Given the description of an element on the screen output the (x, y) to click on. 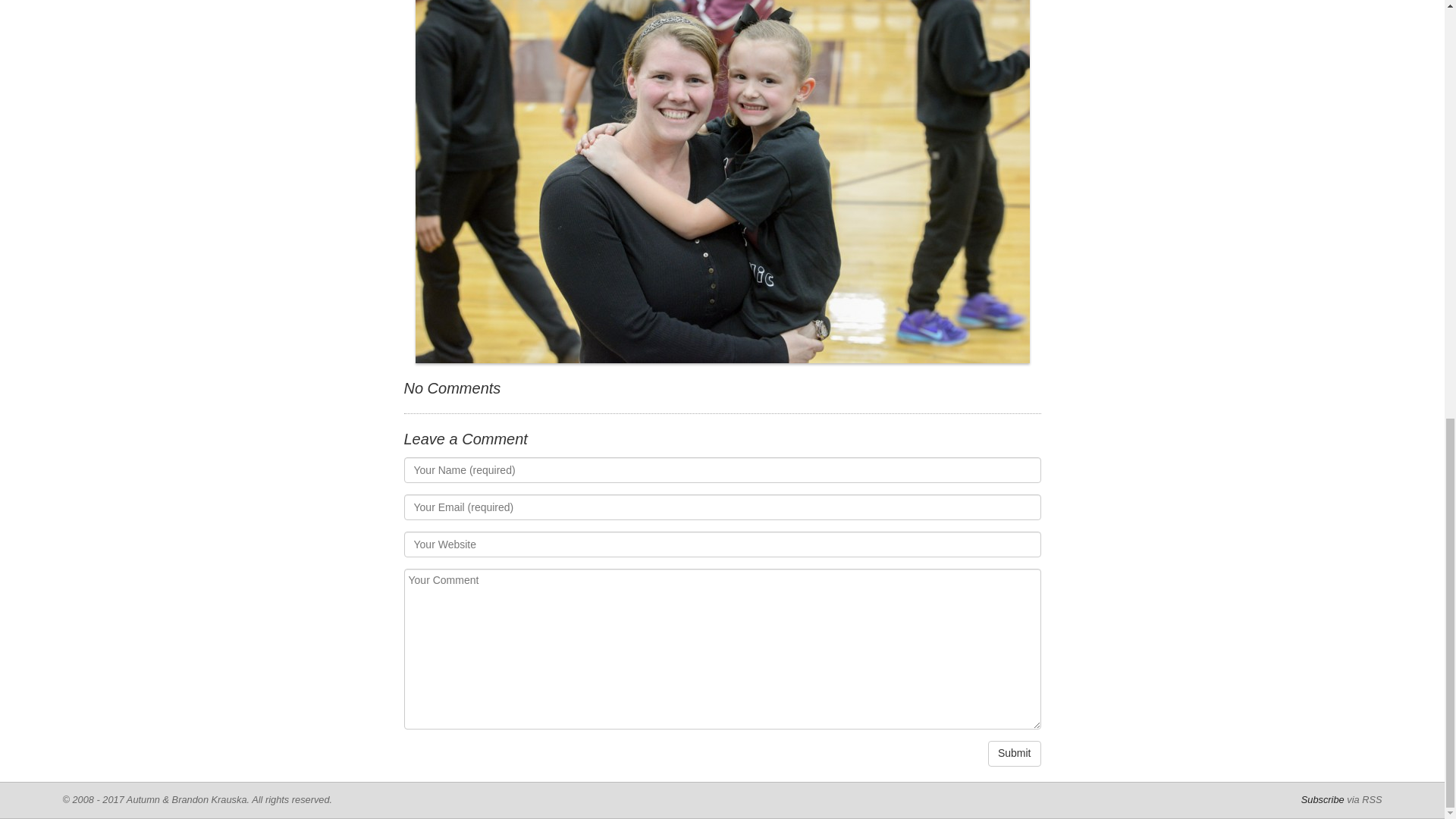
Submit (1014, 753)
Submit (1014, 753)
Subscribe (1322, 799)
